Given the description of an element on the screen output the (x, y) to click on. 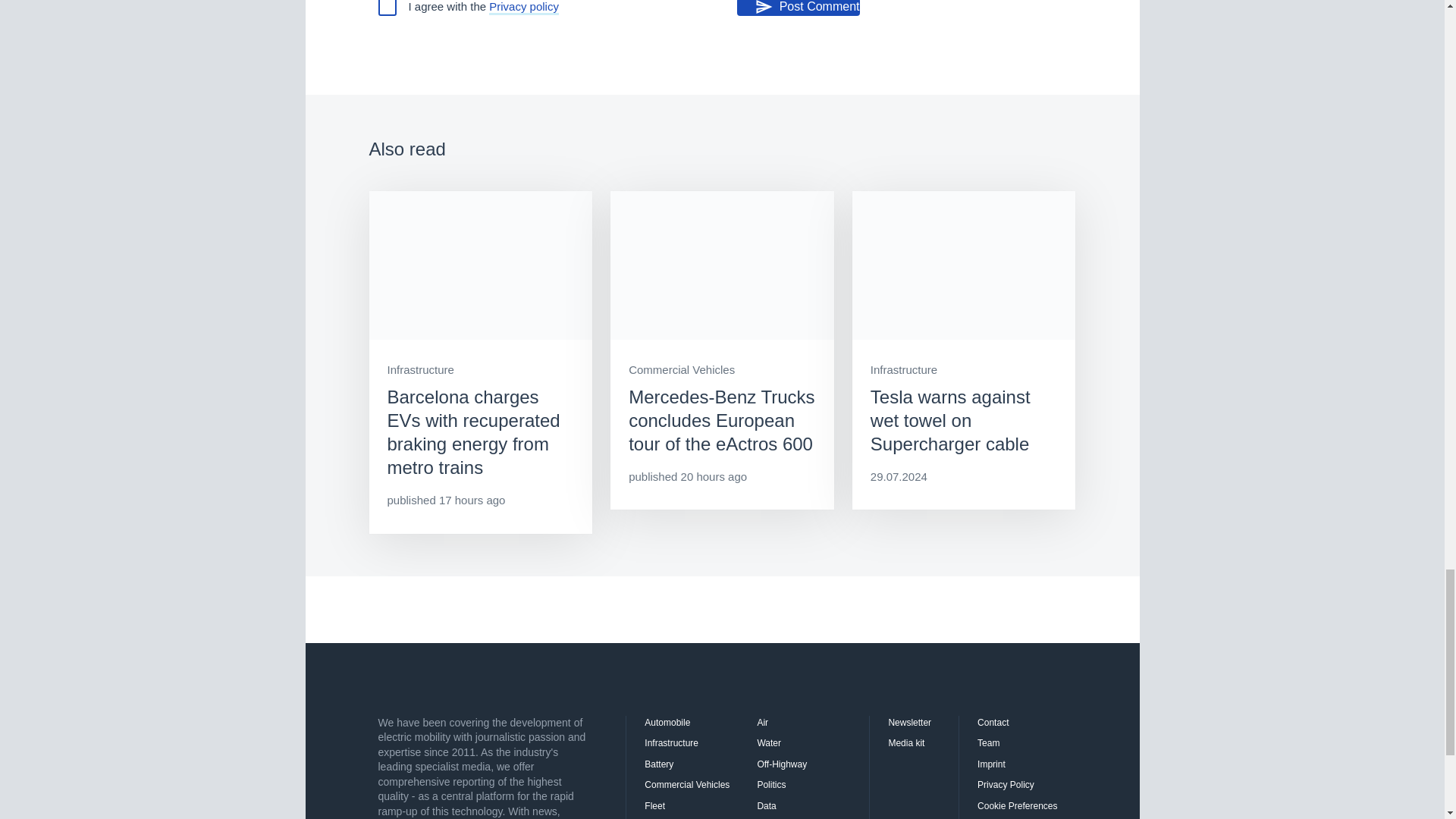
Post Comment (798, 7)
